Given the description of an element on the screen output the (x, y) to click on. 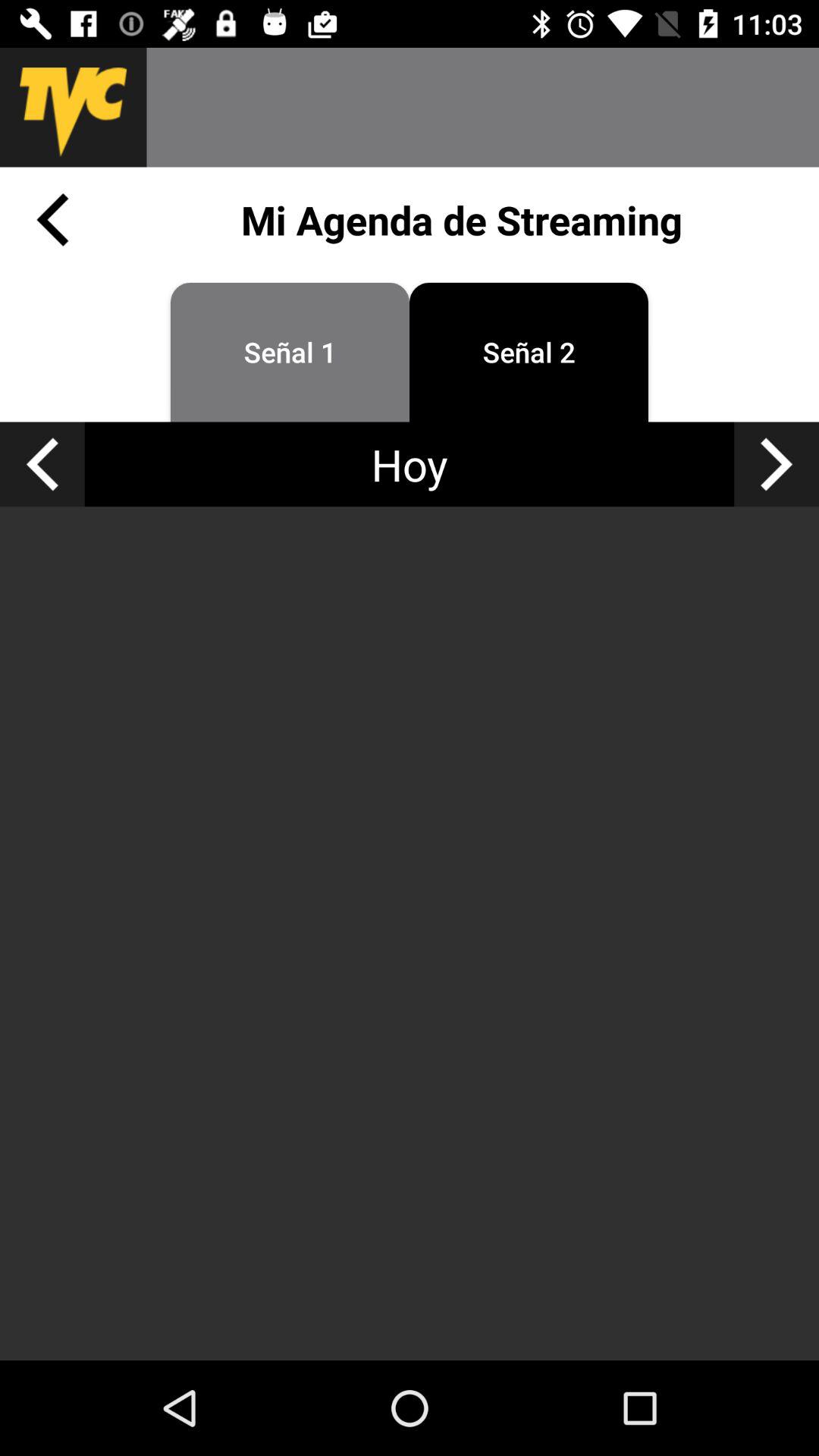
tap item above the hoy app (528, 352)
